Given the description of an element on the screen output the (x, y) to click on. 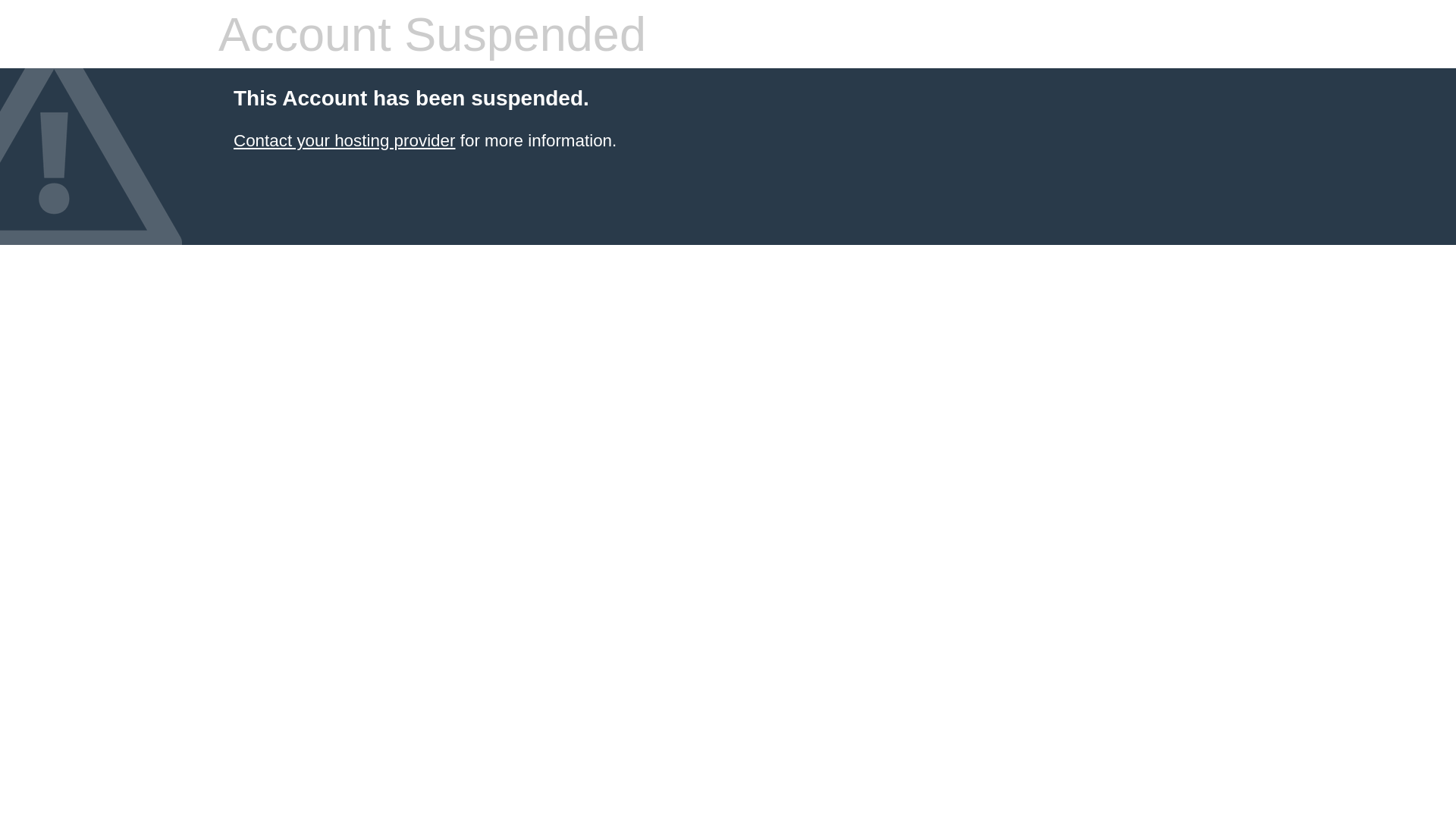
Contact your hosting provider Element type: text (344, 140)
